Given the description of an element on the screen output the (x, y) to click on. 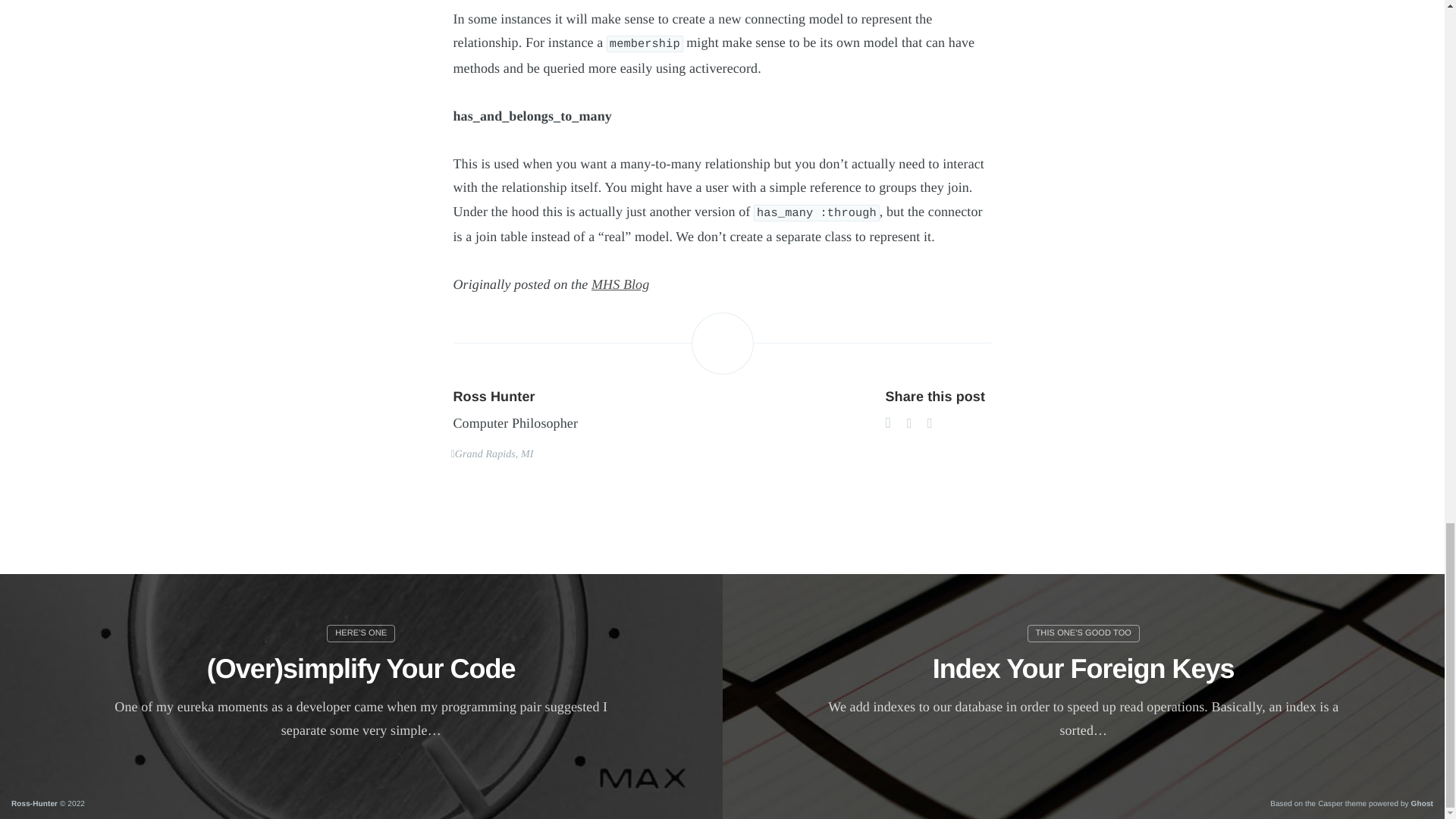
MHS Blog (620, 283)
Ross-Hunter (34, 804)
Ghost (1421, 804)
Ross Hunter (493, 395)
